Given the description of an element on the screen output the (x, y) to click on. 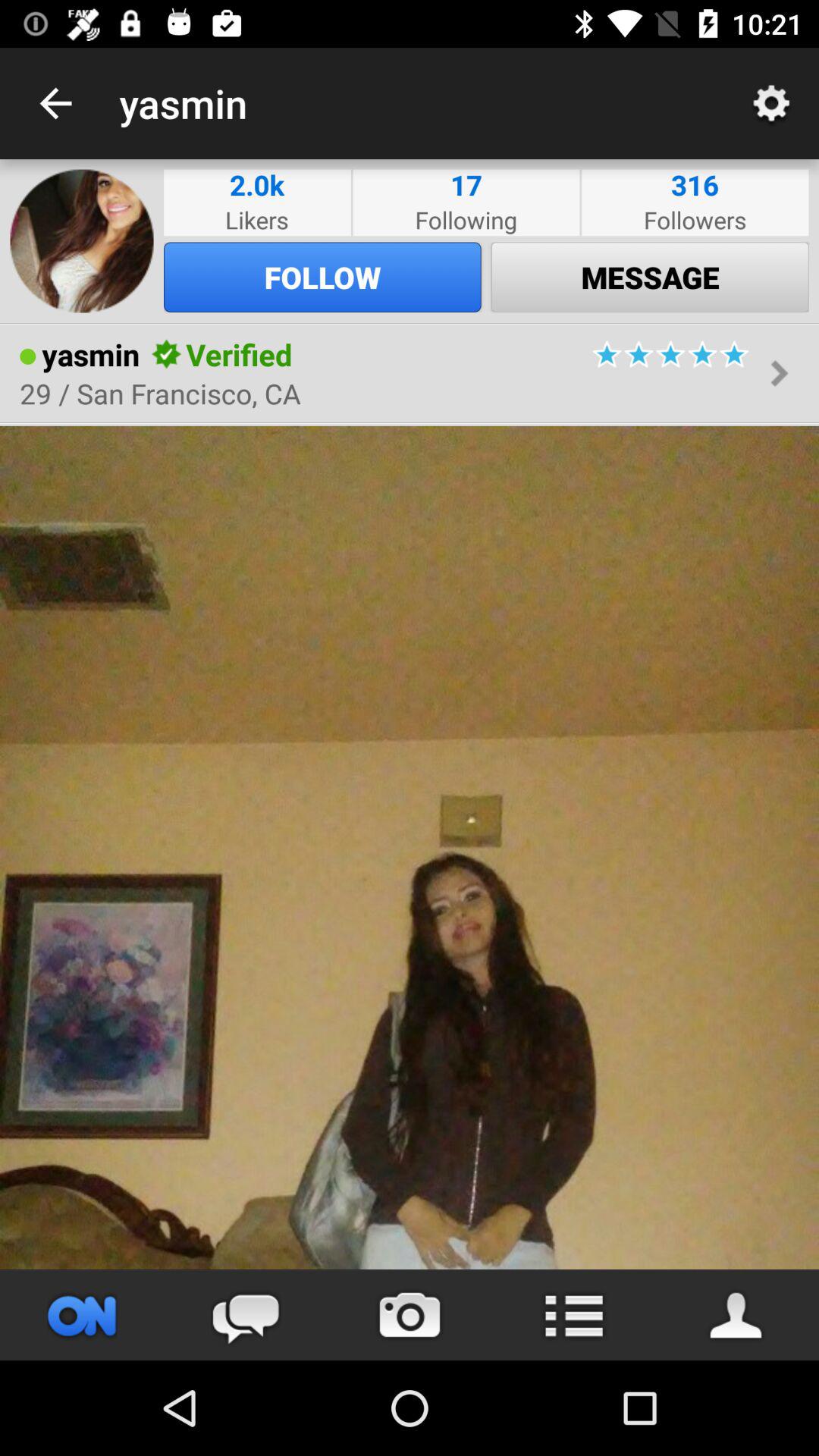
choose item to the left of the yasmin (27, 356)
